Given the description of an element on the screen output the (x, y) to click on. 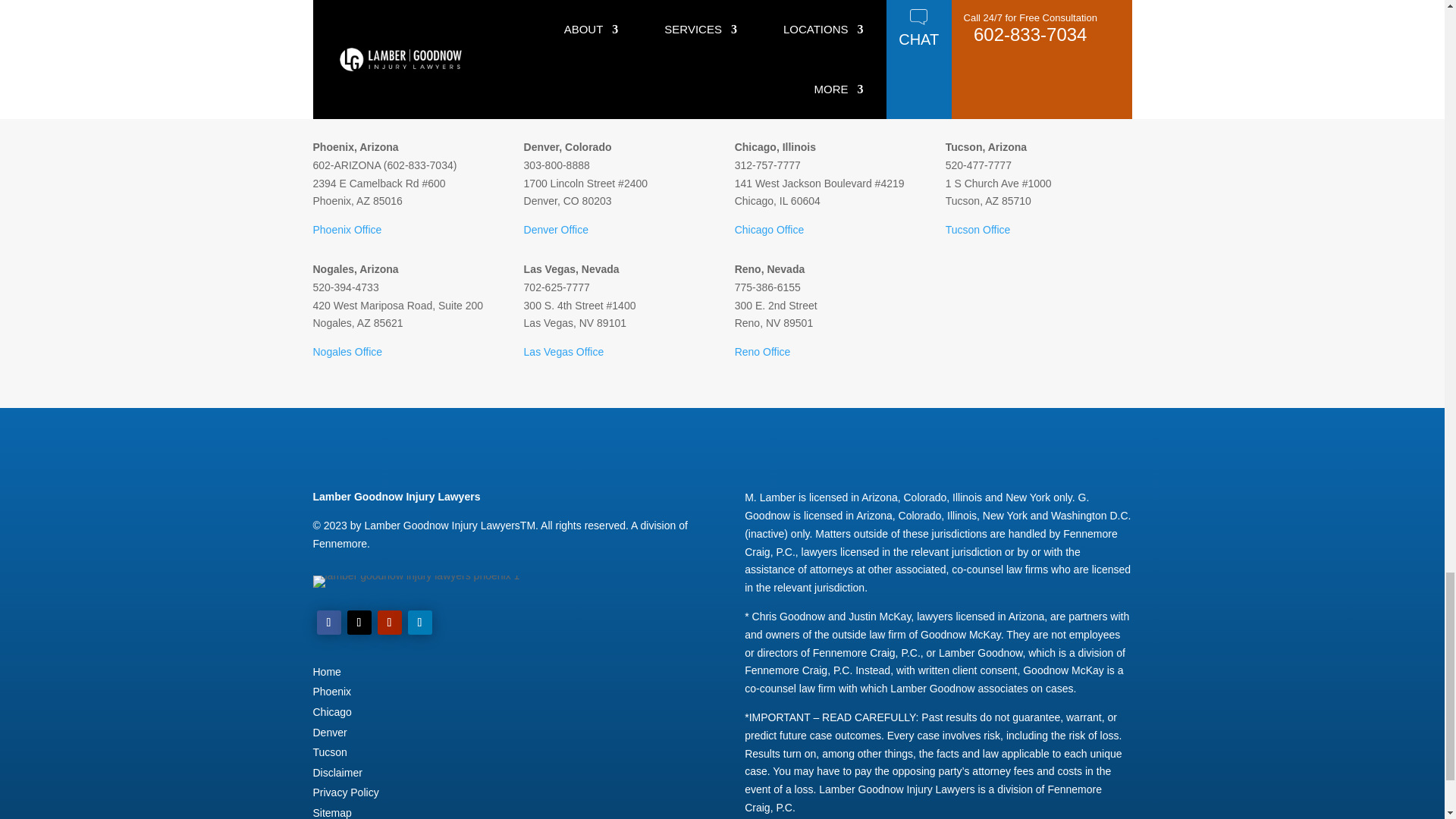
Follow on LinkedIn (419, 621)
Follow on Youtube (389, 621)
Follow on Facebook (328, 621)
Follow on X (359, 621)
